Given the description of an element on the screen output the (x, y) to click on. 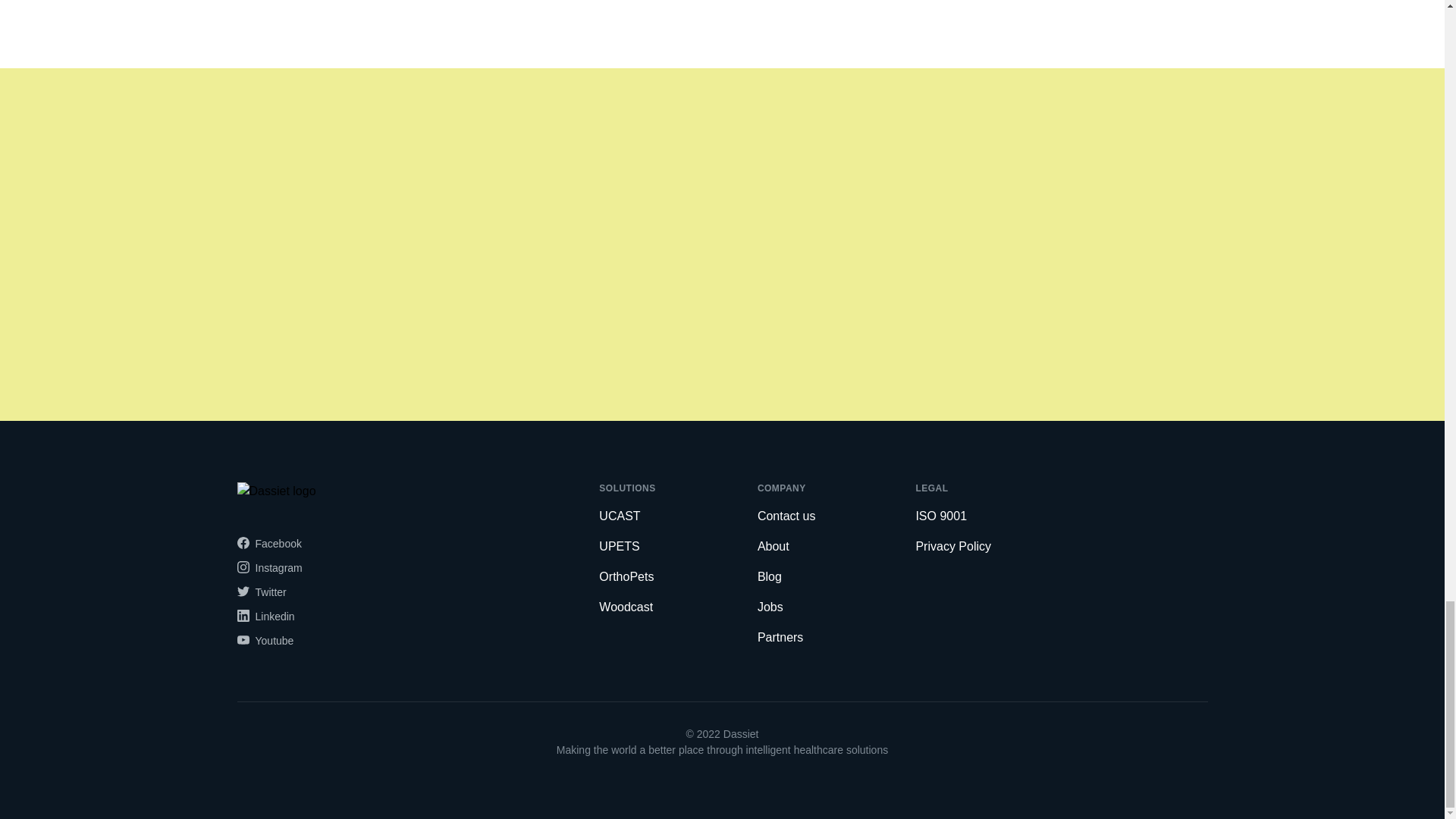
OrthoPets (625, 576)
UCAST (619, 516)
Facebook (268, 542)
Blog (769, 576)
Instagram (268, 567)
ISO 9001 (940, 516)
Privacy Policy (953, 546)
Twitter (260, 591)
Partners (780, 637)
About (773, 546)
Contact us (786, 516)
UPETS (618, 546)
Youtube (264, 639)
Linkedin (264, 615)
Woodcast (625, 607)
